Given the description of an element on the screen output the (x, y) to click on. 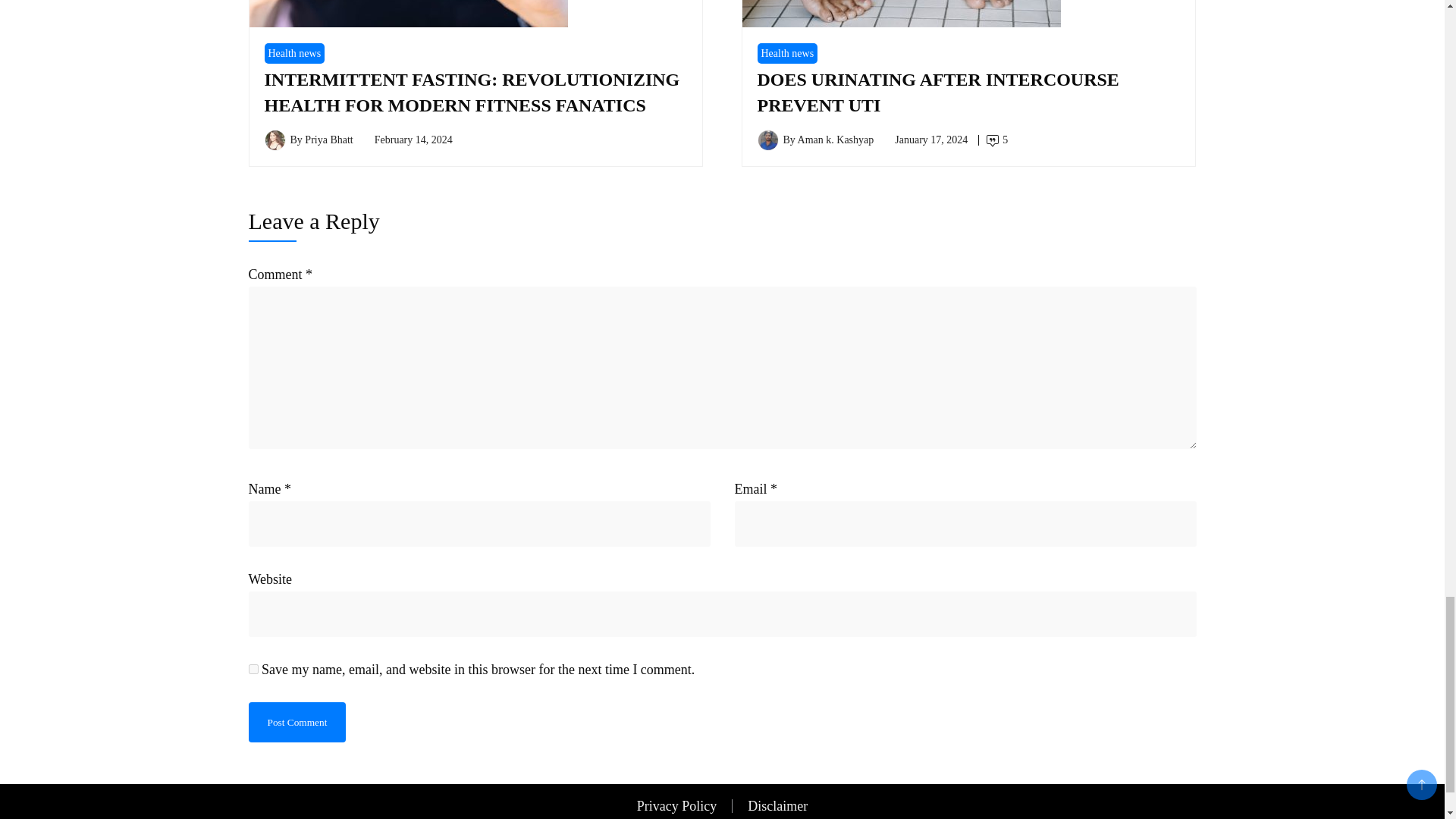
yes (253, 669)
Post Comment (297, 721)
Health news (293, 53)
